Given the description of an element on the screen output the (x, y) to click on. 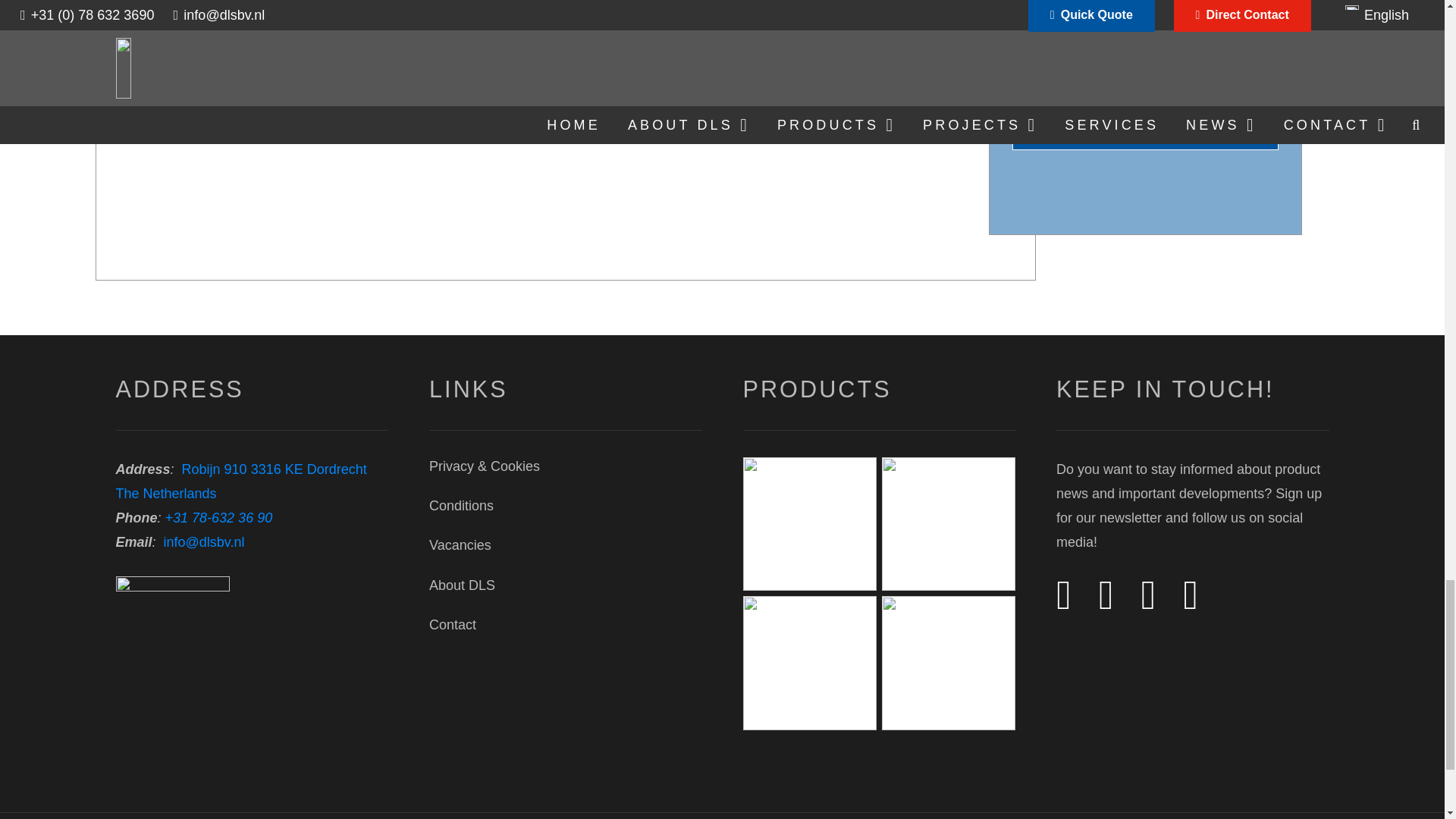
Send (1145, 131)
